Given the description of an element on the screen output the (x, y) to click on. 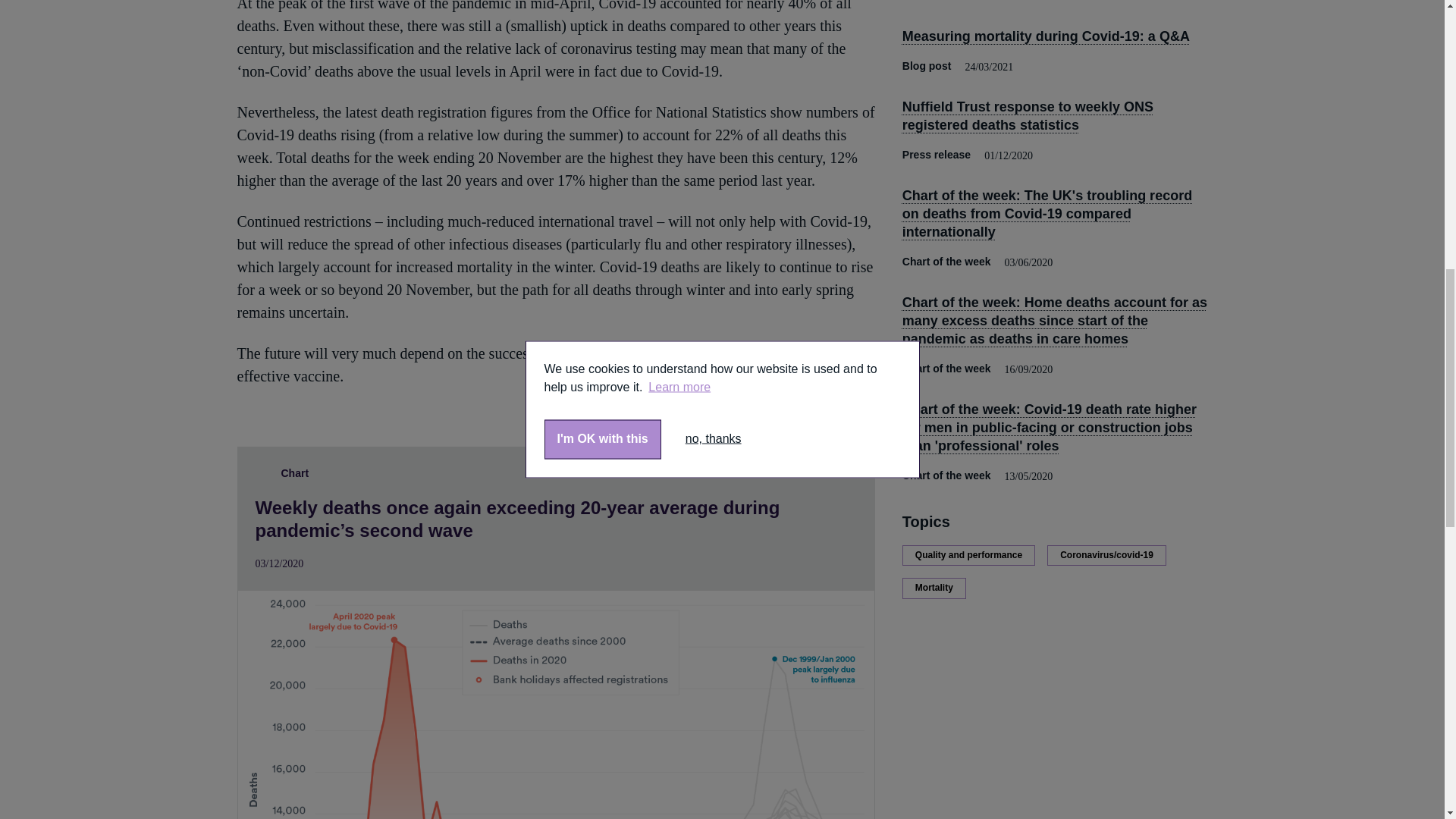
View all Quality and performance content (968, 555)
View all Mortality content (934, 588)
